Given the description of an element on the screen output the (x, y) to click on. 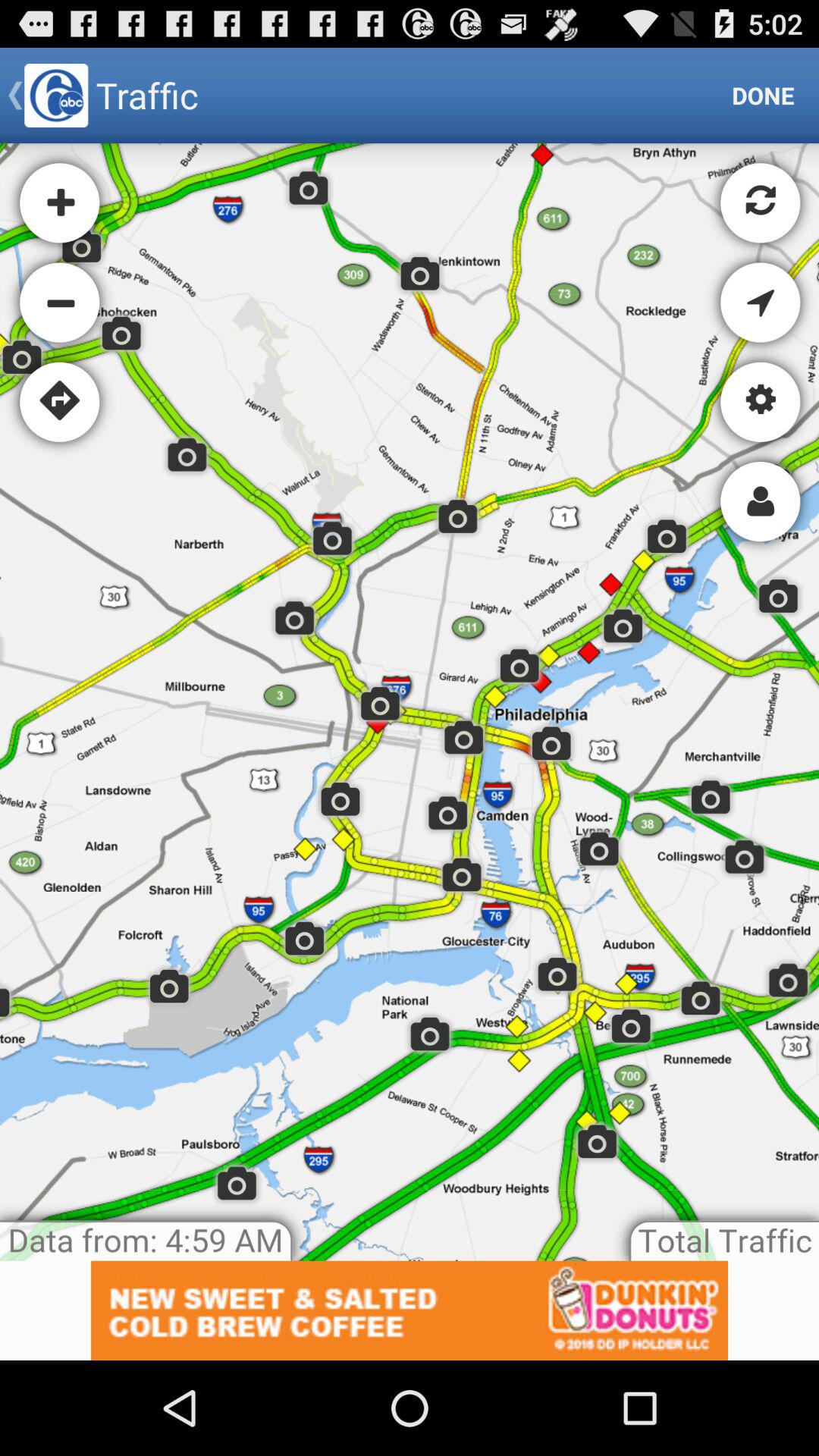
advertising (409, 1310)
